Given the description of an element on the screen output the (x, y) to click on. 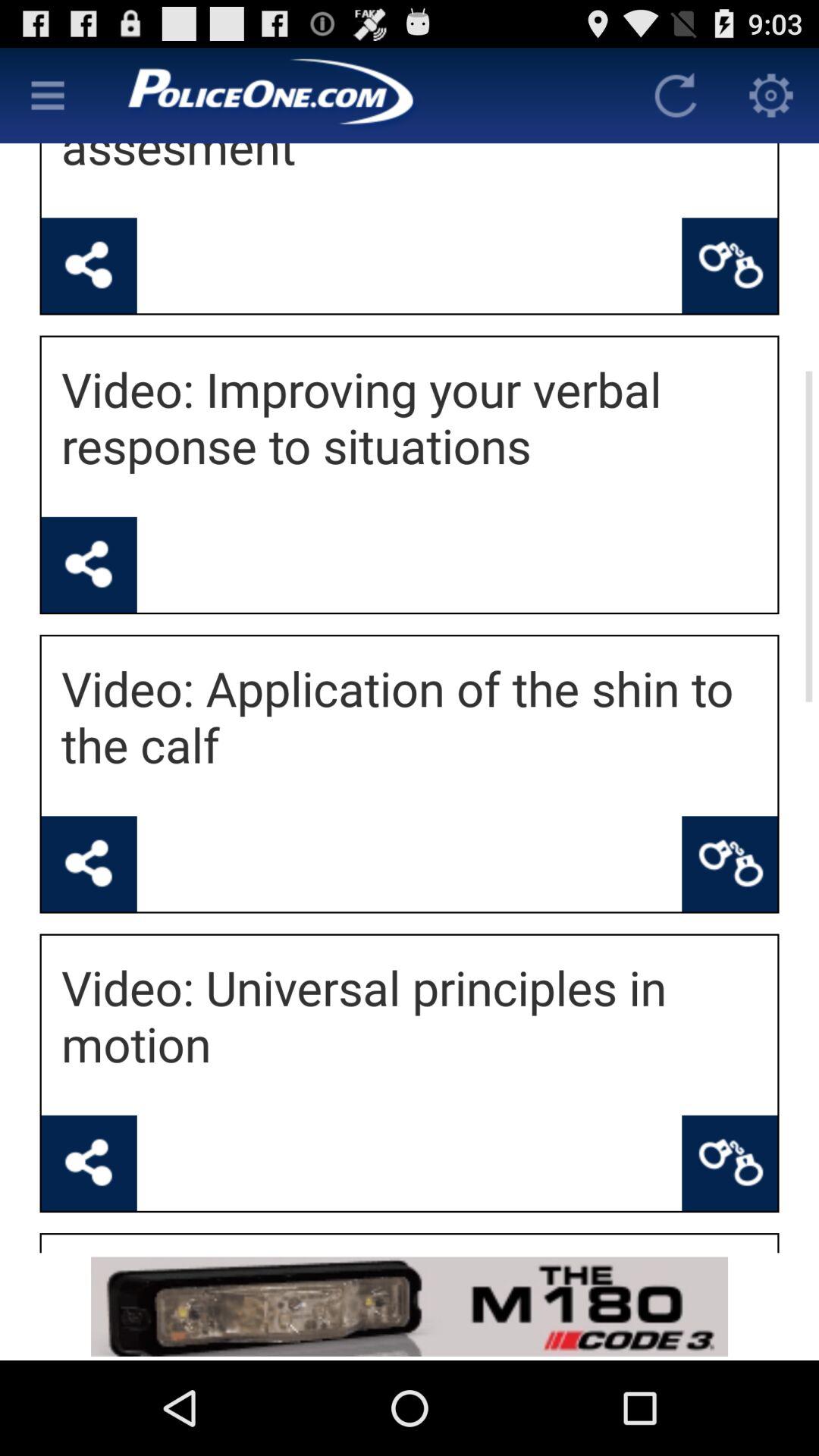
share (89, 265)
